Given the description of an element on the screen output the (x, y) to click on. 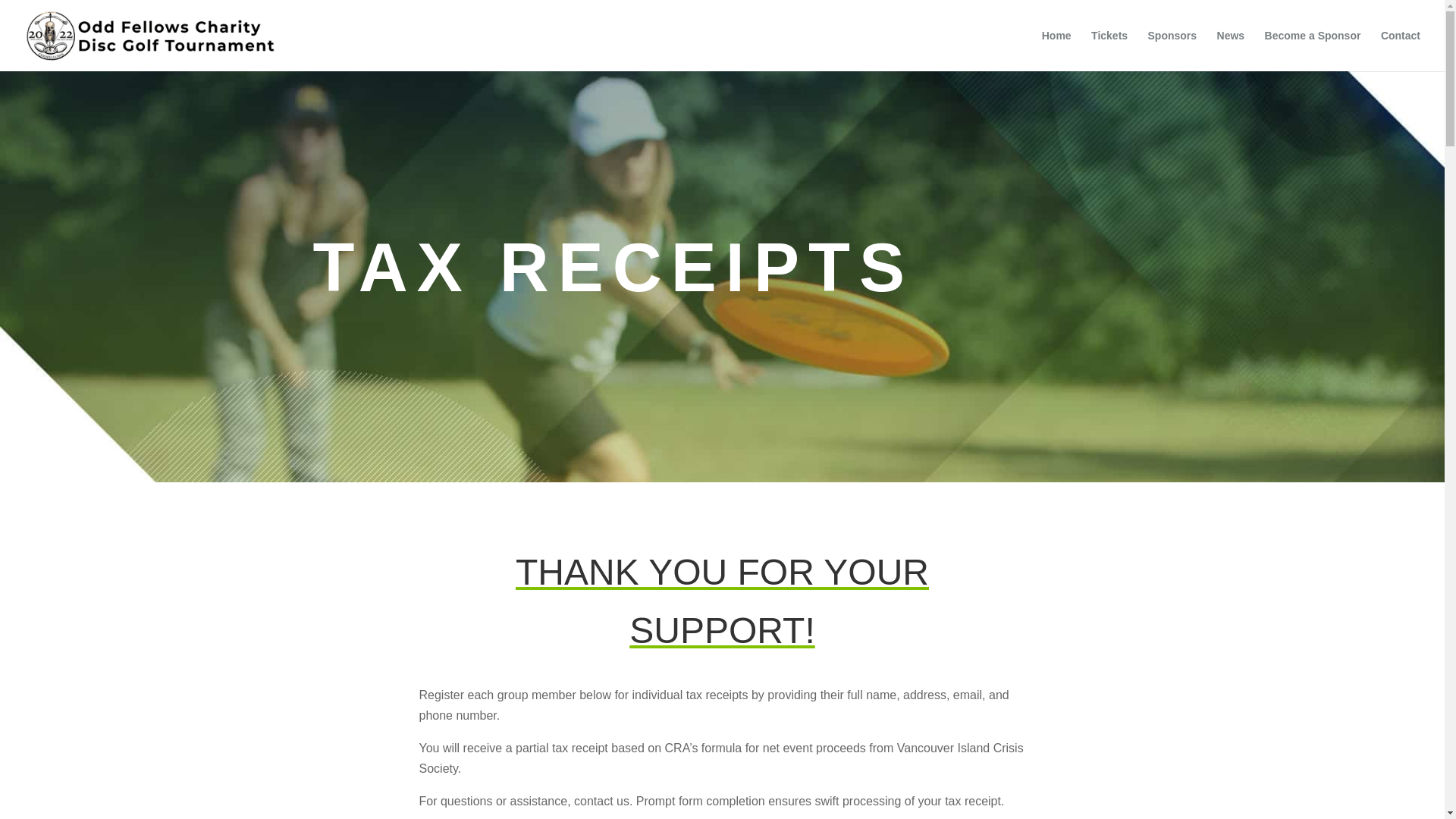
Become a Sponsor (1313, 50)
Contact (1400, 50)
Tickets (1108, 50)
News (1230, 50)
Sponsors (1172, 50)
Home (1056, 50)
